Given the description of an element on the screen output the (x, y) to click on. 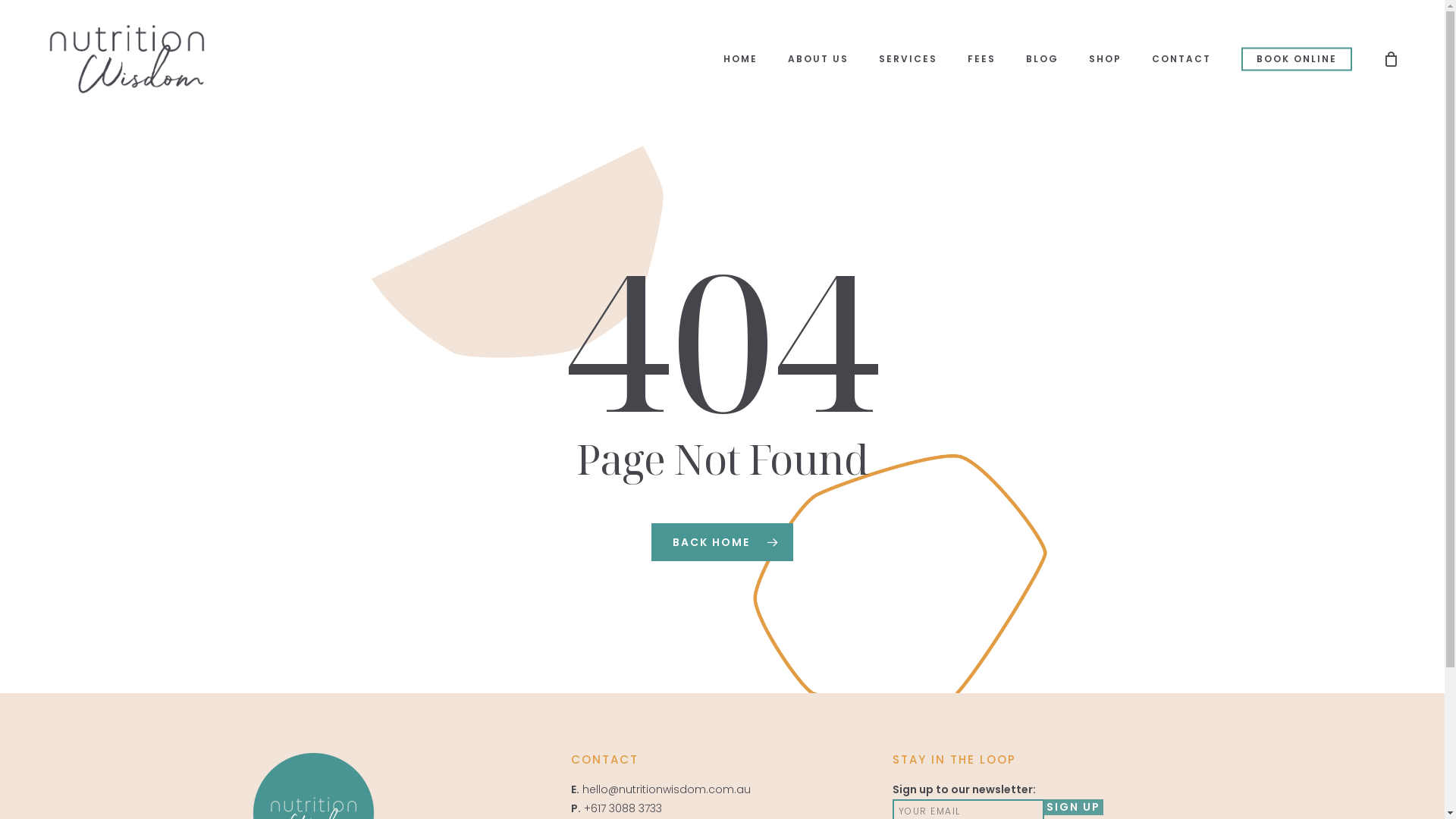
+617 3088 3733 Element type: text (622, 807)
CONTACT Element type: text (1181, 58)
HOME Element type: text (740, 58)
BACK HOME Element type: text (722, 542)
SHOP Element type: text (1104, 58)
SIGN UP Element type: text (1072, 807)
hello@nutritionwisdom.com.au Element type: text (666, 789)
ABOUT US Element type: text (817, 58)
BLOG Element type: text (1041, 58)
SERVICES Element type: text (907, 58)
BOOK ONLINE Element type: text (1296, 58)
FEES Element type: text (981, 58)
